Given the description of an element on the screen output the (x, y) to click on. 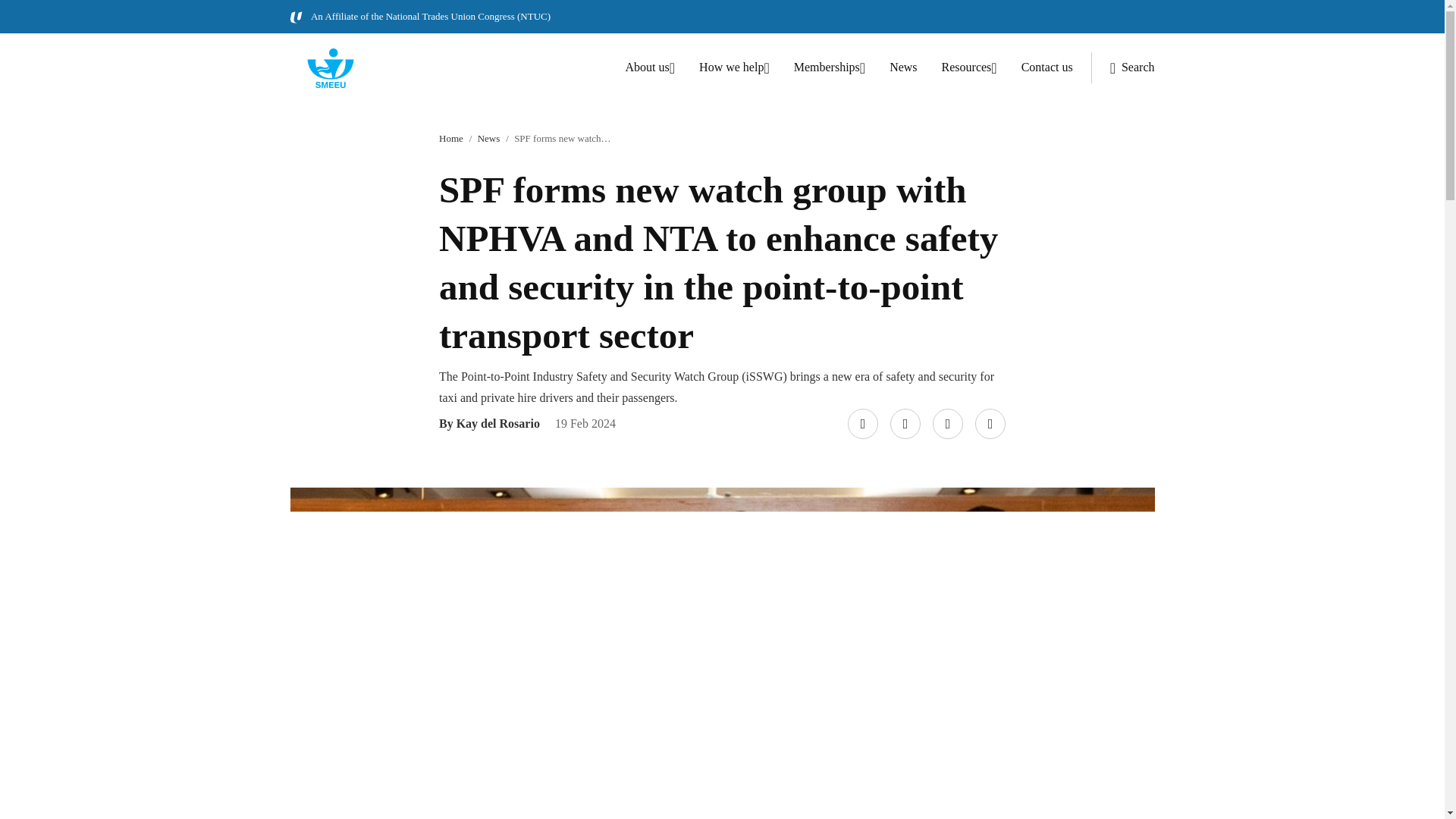
Search (1122, 67)
Home (451, 138)
How we help (734, 68)
News (488, 138)
About us (650, 68)
Memberships (828, 68)
Twitter (902, 409)
Contact us (1047, 67)
News (903, 67)
Resources (969, 68)
